Given the description of an element on the screen output the (x, y) to click on. 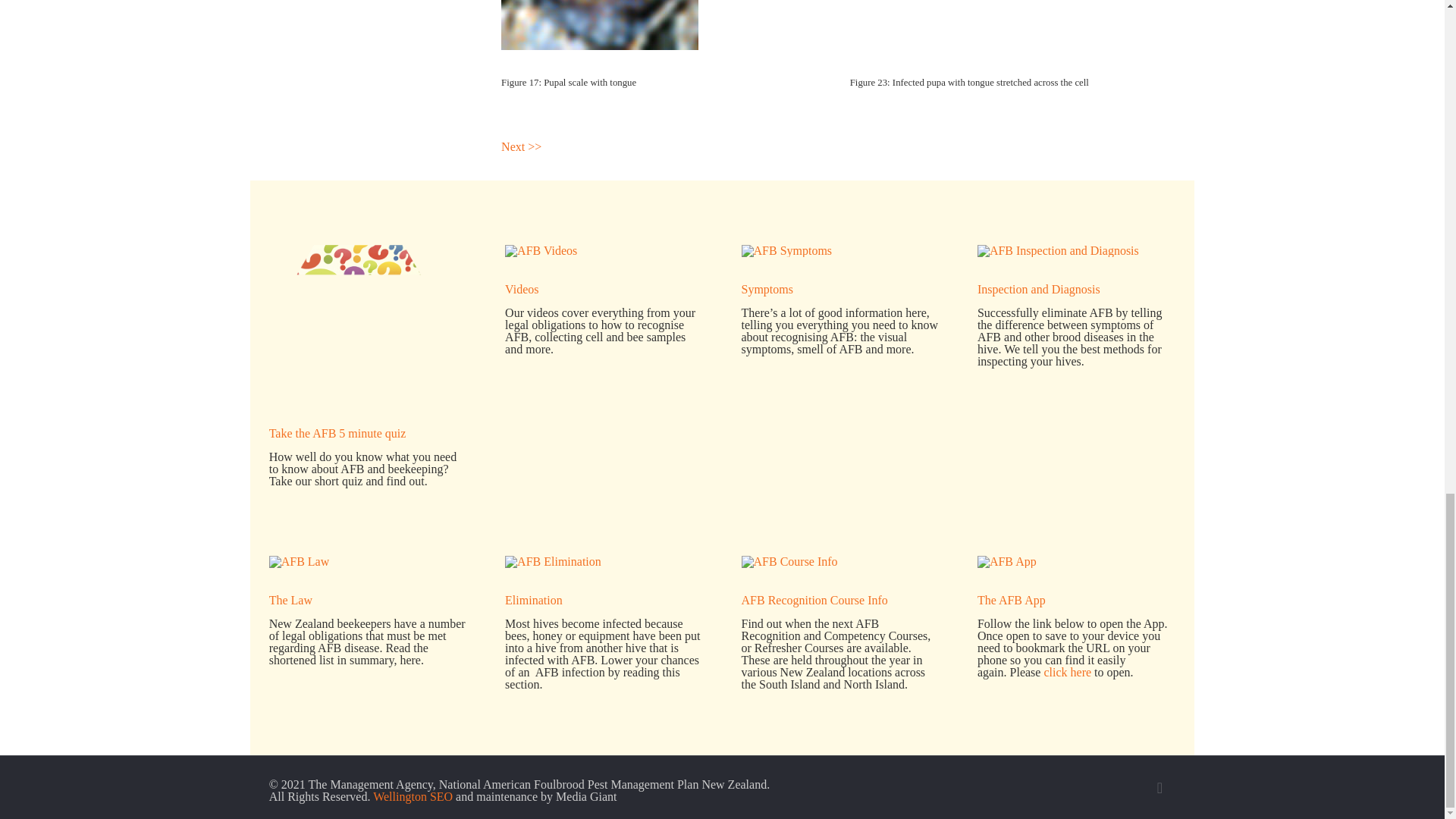
23-Fig-Infected-pupa (956, 24)
17-Fig-Pupal-scale-with-tongue (599, 24)
